Given the description of an element on the screen output the (x, y) to click on. 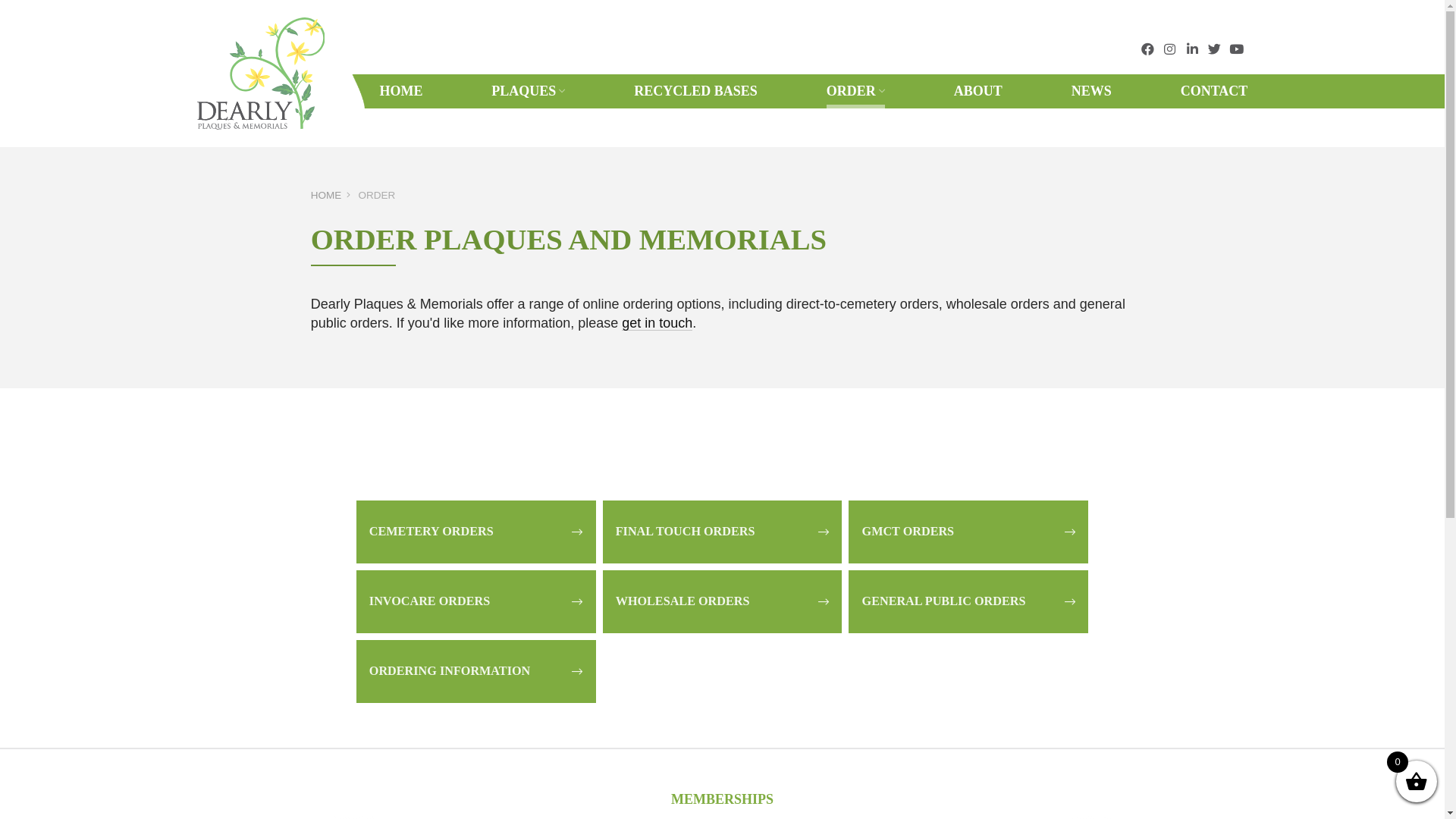
PLAQUES Element type: text (527, 91)
GENERAL PUBLIC ORDERS Element type: text (968, 601)
HOME Element type: text (400, 91)
ABOUT Element type: text (977, 91)
FINAL TOUCH ORDERS Element type: text (722, 531)
NEWS Element type: text (1091, 91)
RECYCLED BASES Element type: text (695, 91)
CEMETERY ORDERS Element type: text (476, 531)
ORDER Element type: text (855, 91)
WHOLESALE ORDERS Element type: text (722, 601)
CONTACT Element type: text (1214, 91)
ORDERING INFORMATION Element type: text (476, 671)
get in touch Element type: text (656, 322)
HOME Element type: text (326, 194)
GMCT ORDERS Element type: text (968, 531)
INVOCARE ORDERS Element type: text (476, 601)
